Given the description of an element on the screen output the (x, y) to click on. 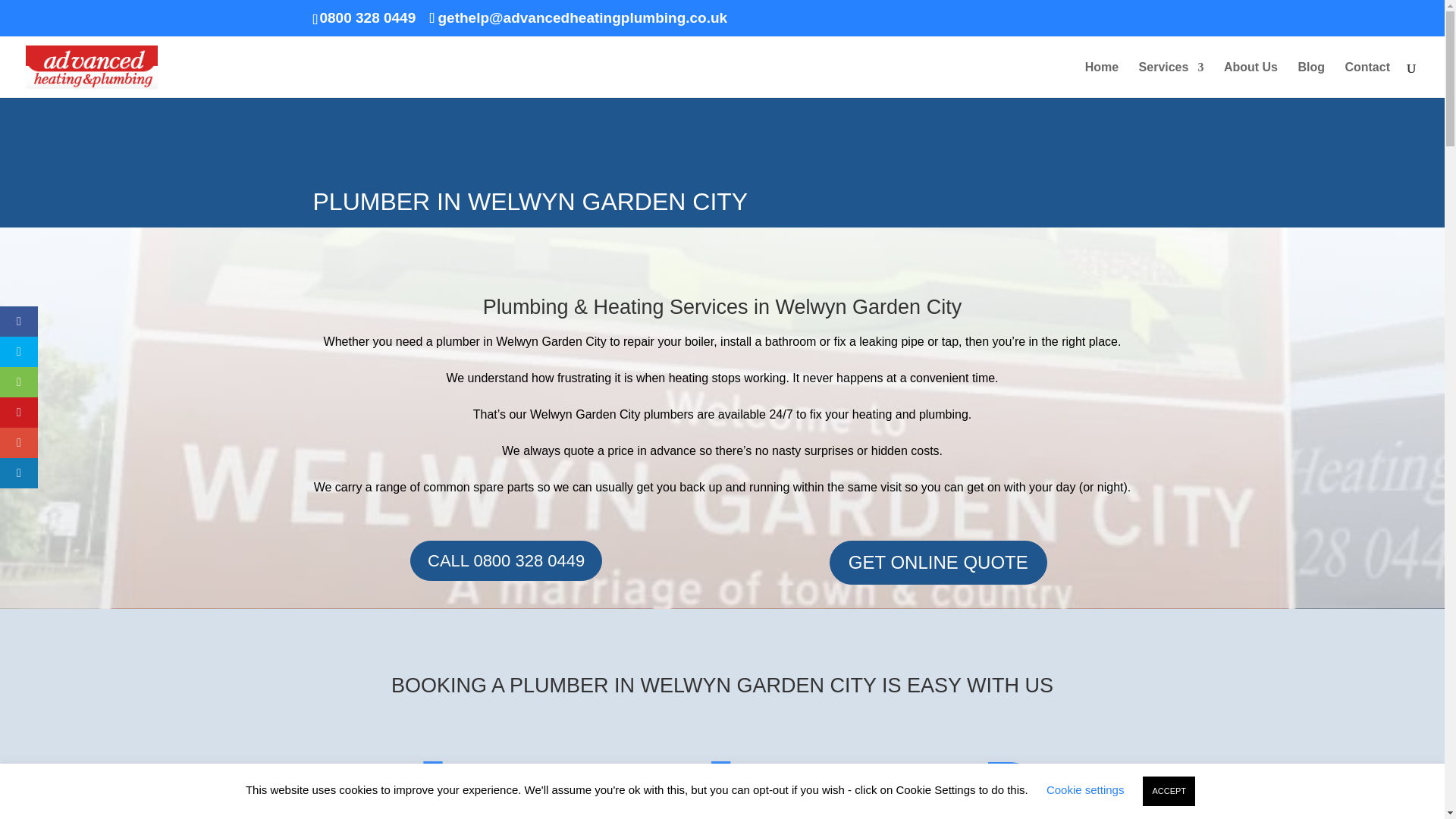
GET ONLINE QUOTE (937, 561)
0800 328 0449 (366, 17)
Services (1171, 79)
Home (1101, 79)
CALL 0800 328 0449 (506, 560)
About Us (1251, 79)
Contact (1366, 79)
